Given the description of an element on the screen output the (x, y) to click on. 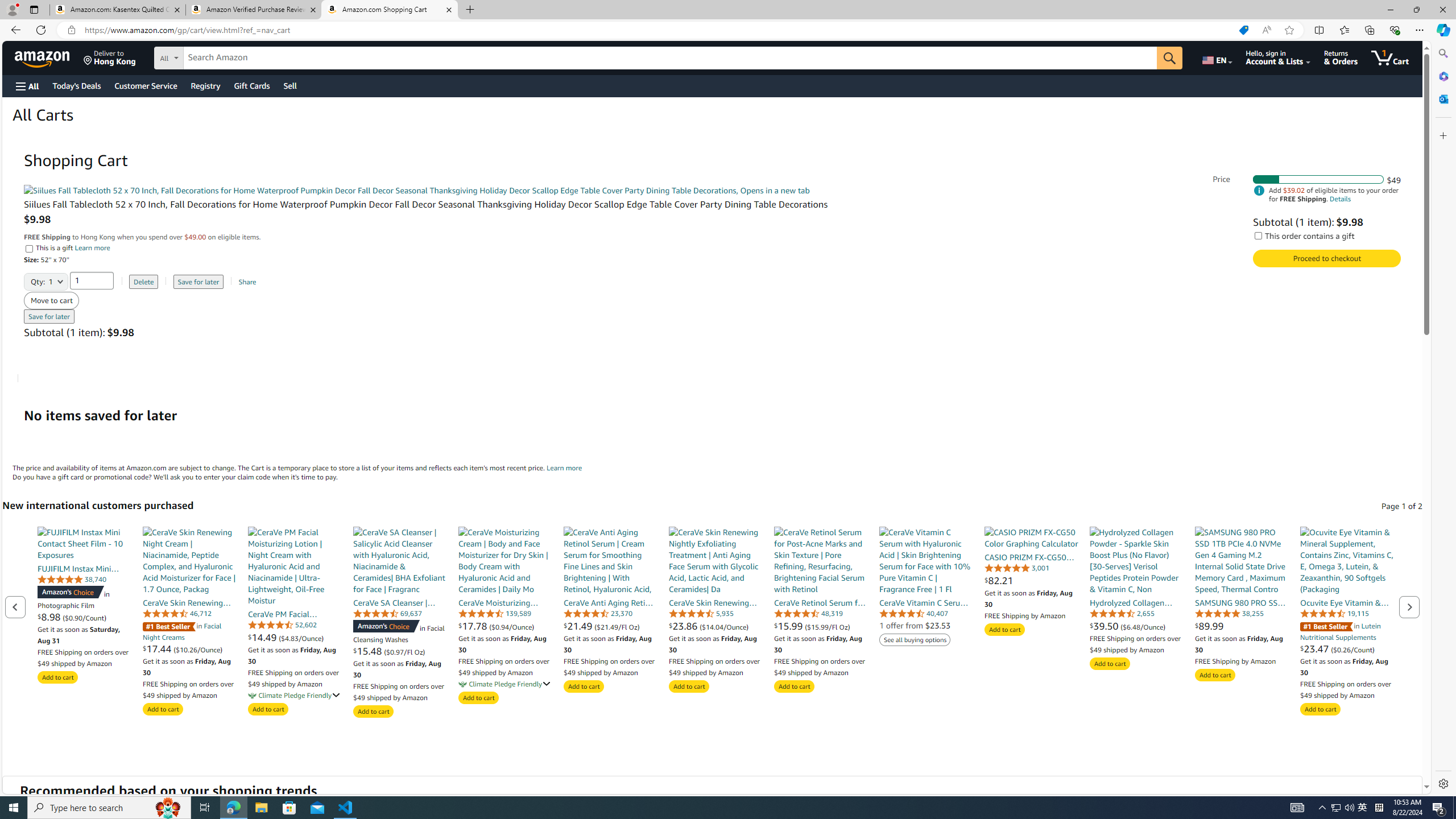
$17.78  (473, 625)
Choose a language for shopping. (1216, 57)
$14.49  (263, 636)
$21.49  (579, 625)
Returns & Orders (1340, 57)
CASIO PRIZM FX-CG50 Color Graphing Calculator (1031, 537)
$15.48  (368, 650)
